Given the description of an element on the screen output the (x, y) to click on. 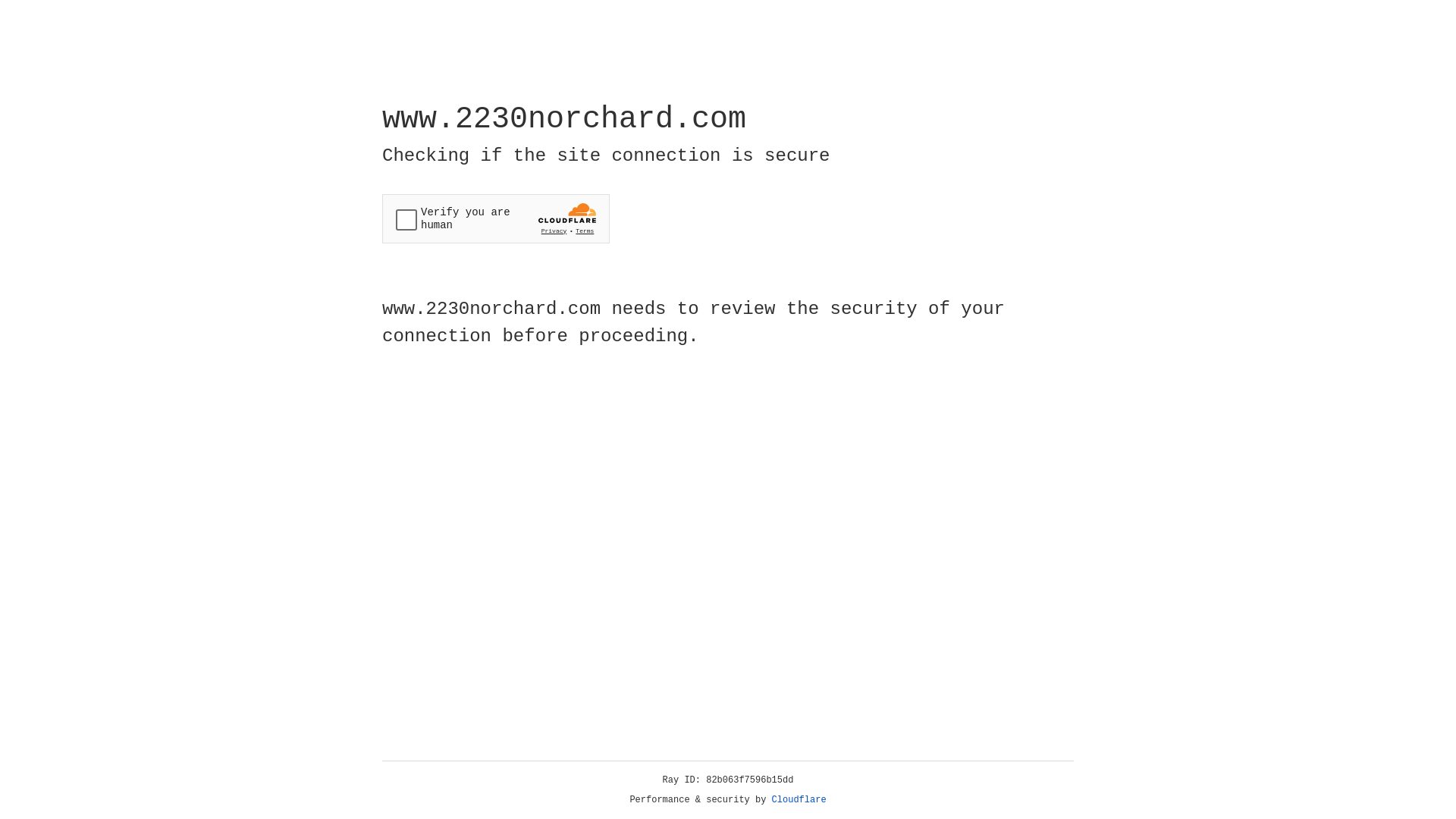
Widget containing a Cloudflare security challenge Element type: hover (495, 218)
Cloudflare Element type: text (798, 799)
